Given the description of an element on the screen output the (x, y) to click on. 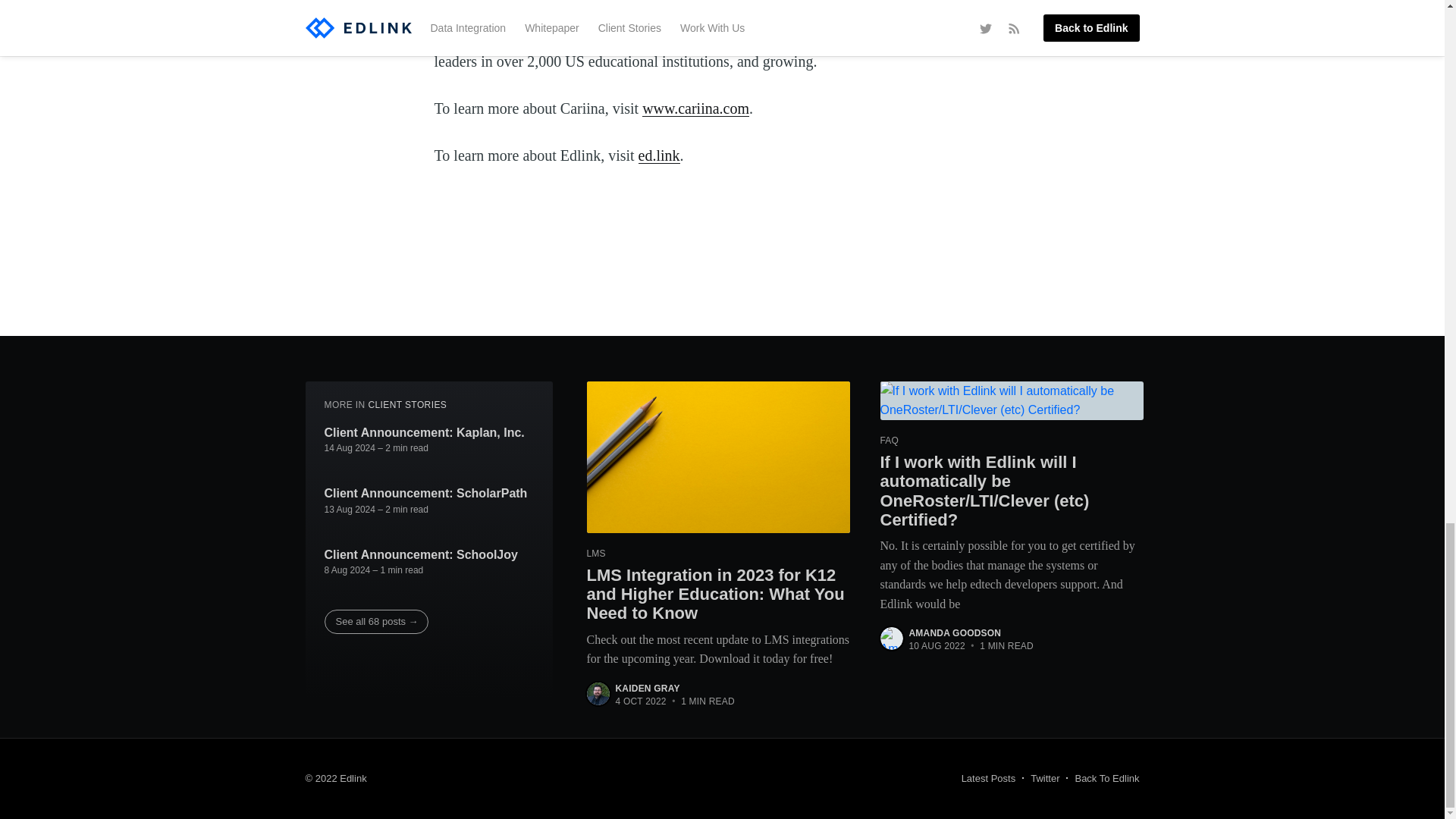
ed.link (659, 155)
KAIDEN GRAY (647, 688)
Client Announcement: ScholarPath (425, 493)
Twitter (1044, 778)
Latest Posts (988, 778)
CLIENT STORIES (407, 404)
Client Announcement: Kaplan, Inc. (424, 433)
Client Announcement: SchoolJoy (421, 555)
www.cariina.com (695, 108)
